Given the description of an element on the screen output the (x, y) to click on. 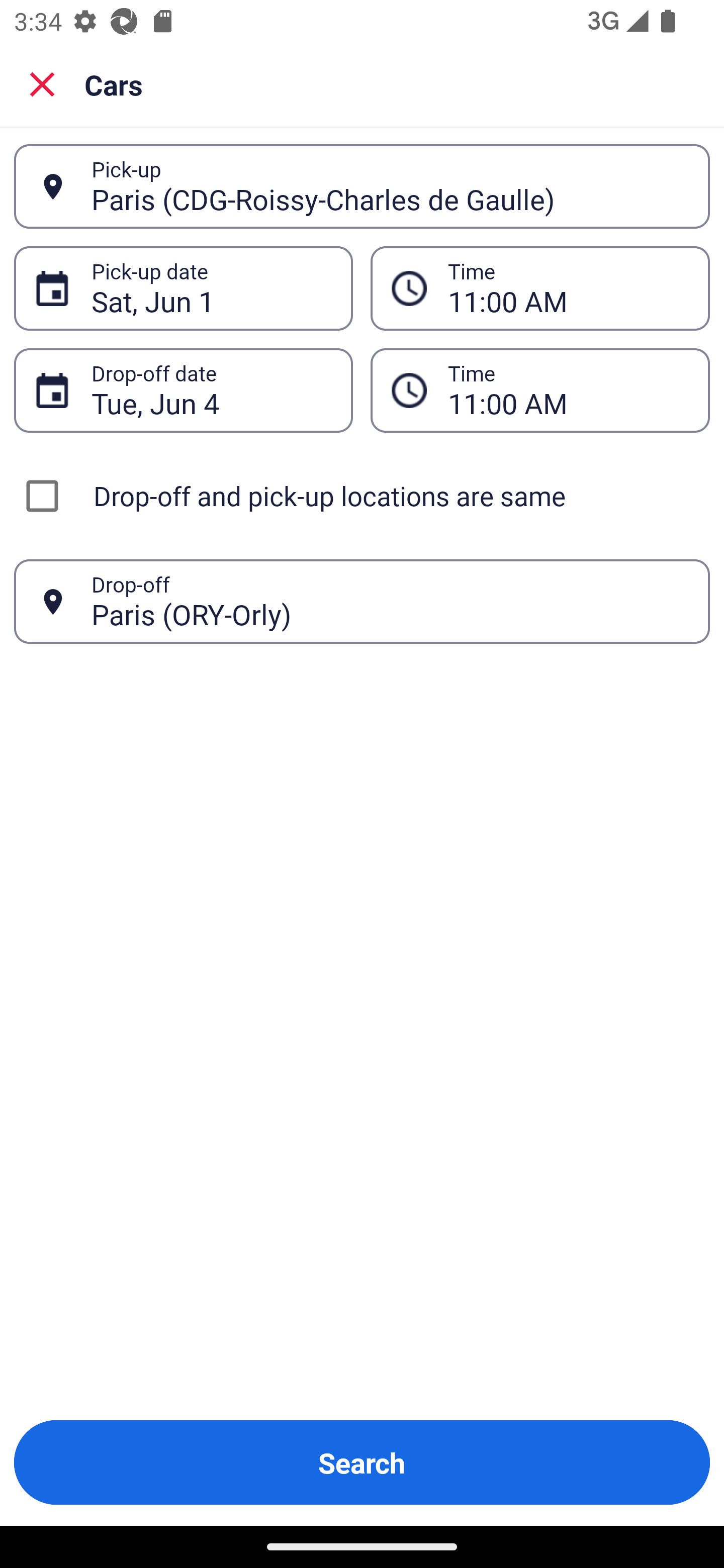
Close search screen (41, 83)
Paris (CDG-Roissy-Charles de Gaulle) Pick-up (361, 186)
Paris (CDG-Roissy-Charles de Gaulle) (389, 186)
Sat, Jun 1 Pick-up date (183, 288)
11:00 AM (540, 288)
Sat, Jun 1 (211, 288)
11:00 AM (568, 288)
Tue, Jun 4 Drop-off date (183, 390)
11:00 AM (540, 390)
Tue, Jun 4 (211, 390)
11:00 AM (568, 390)
Drop-off and pick-up locations are same (361, 495)
Paris (ORY-Orly) Drop-off (361, 601)
Paris (ORY-Orly) (389, 601)
Search Button Search (361, 1462)
